Given the description of an element on the screen output the (x, y) to click on. 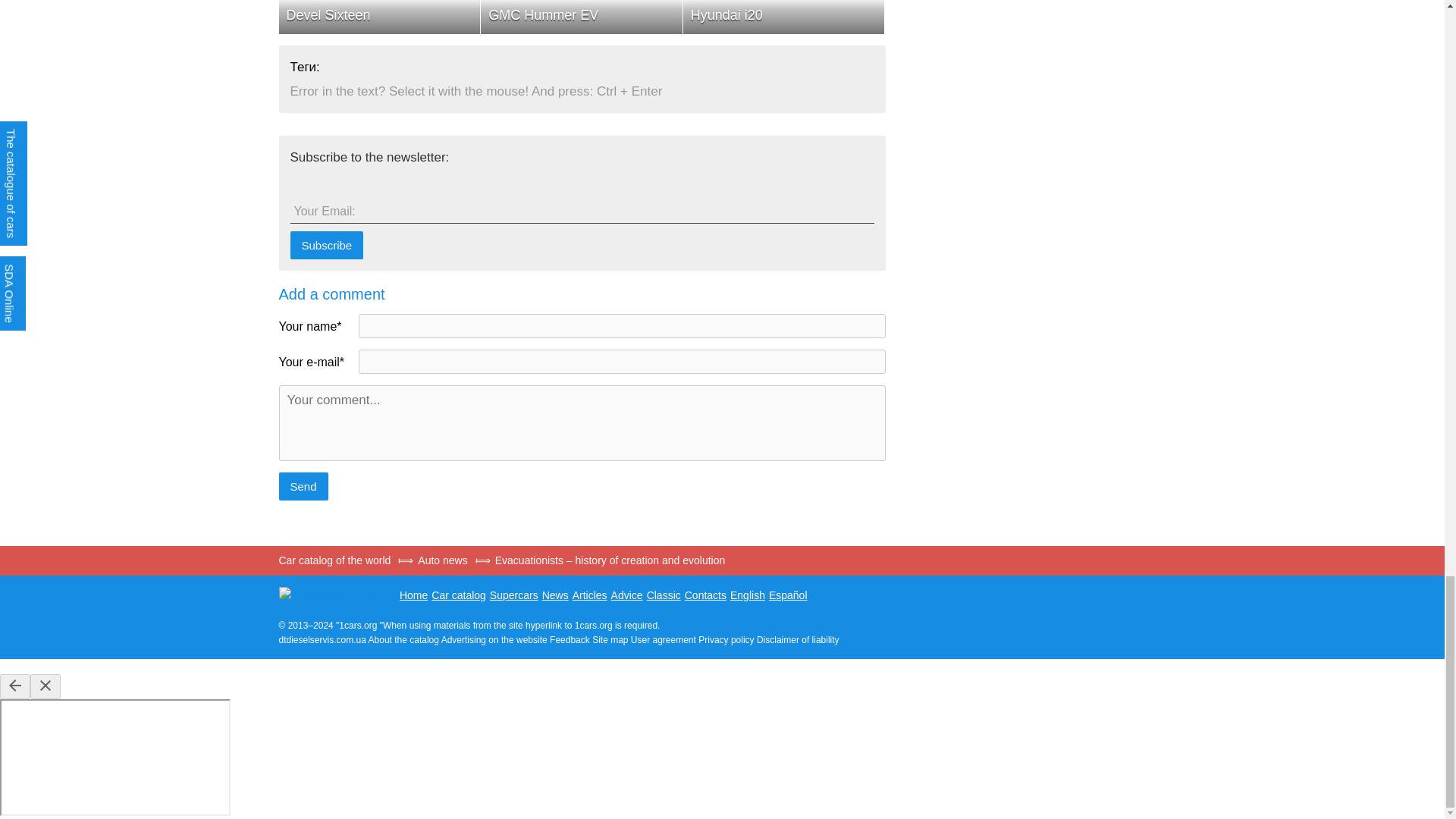
Car catalog (458, 594)
Send (304, 486)
Send (304, 486)
Supercars (513, 594)
GMC Hummer EV (581, 17)
Subscribe (325, 244)
Auto news (443, 560)
Subscribe (325, 244)
Devel Sixteen (379, 17)
Go to the Auto news category archives. (443, 560)
